Given the description of an element on the screen output the (x, y) to click on. 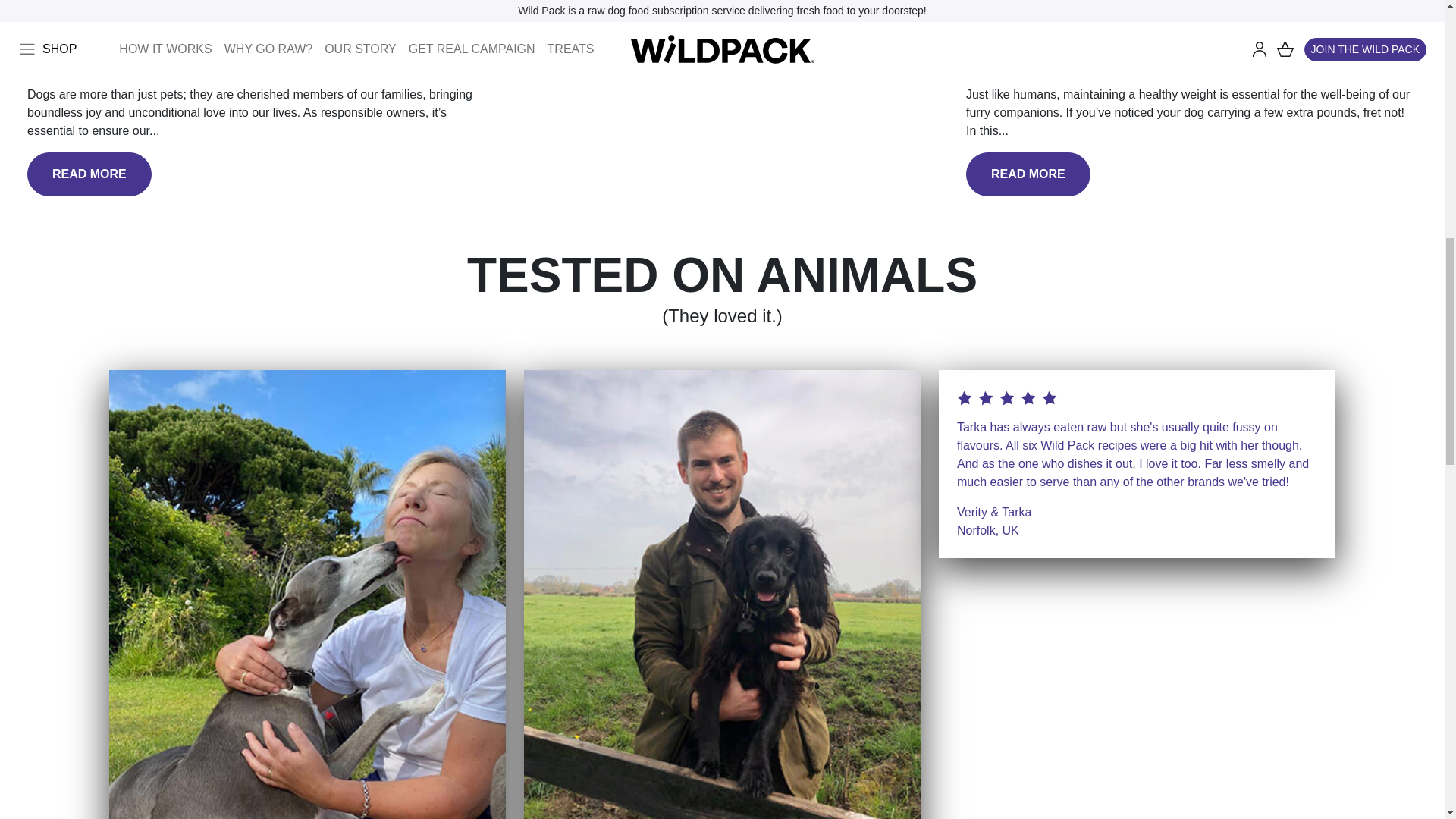
READ MORE (1028, 174)
Is My Dog Happy? The Key Signs To Look Out For (196, 46)
READ MORE (89, 174)
How To Help Your Dog Lose Weight (1086, 46)
